Given the description of an element on the screen output the (x, y) to click on. 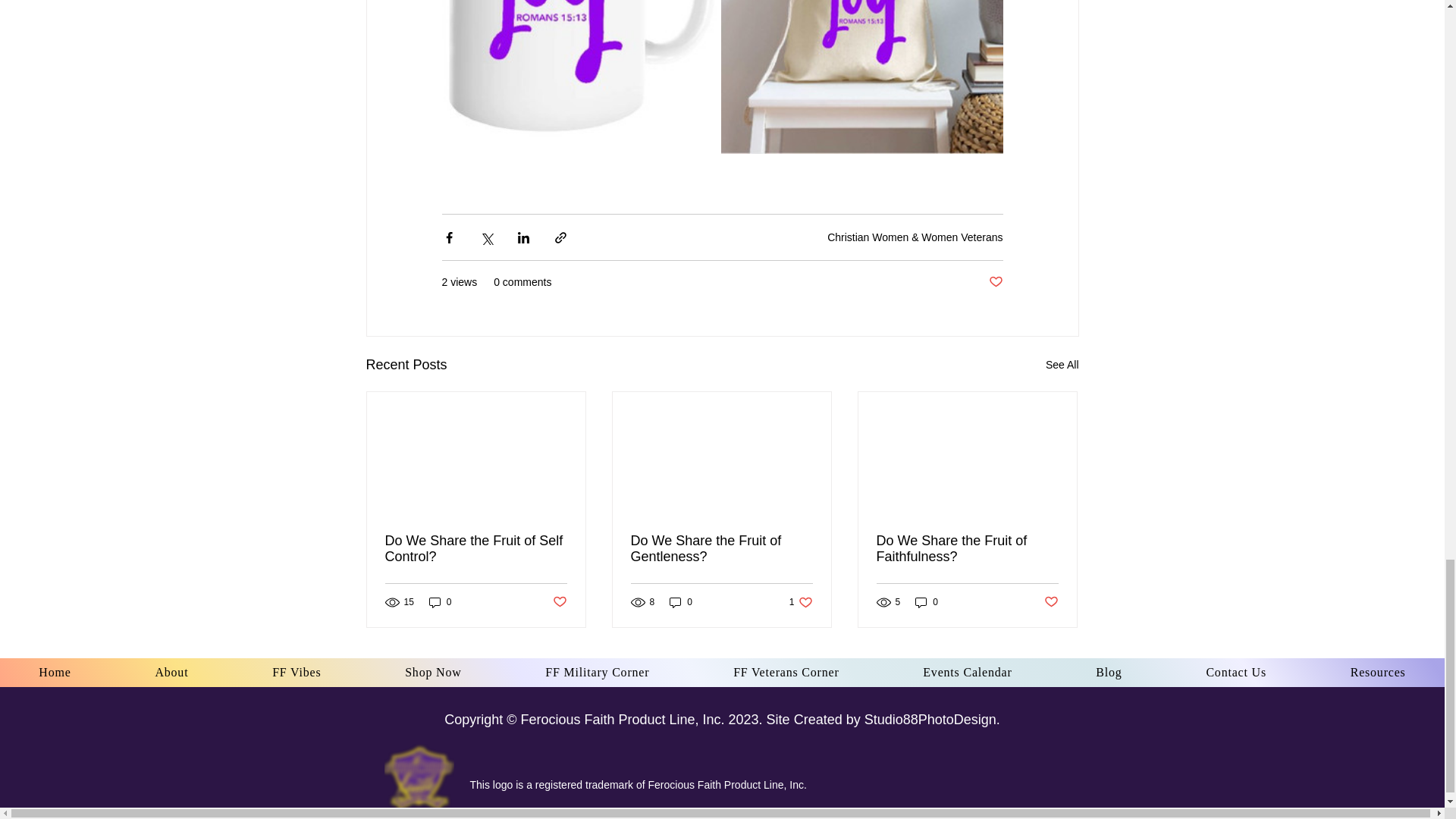
Post not marked as liked (995, 282)
